Given the description of an element on the screen output the (x, y) to click on. 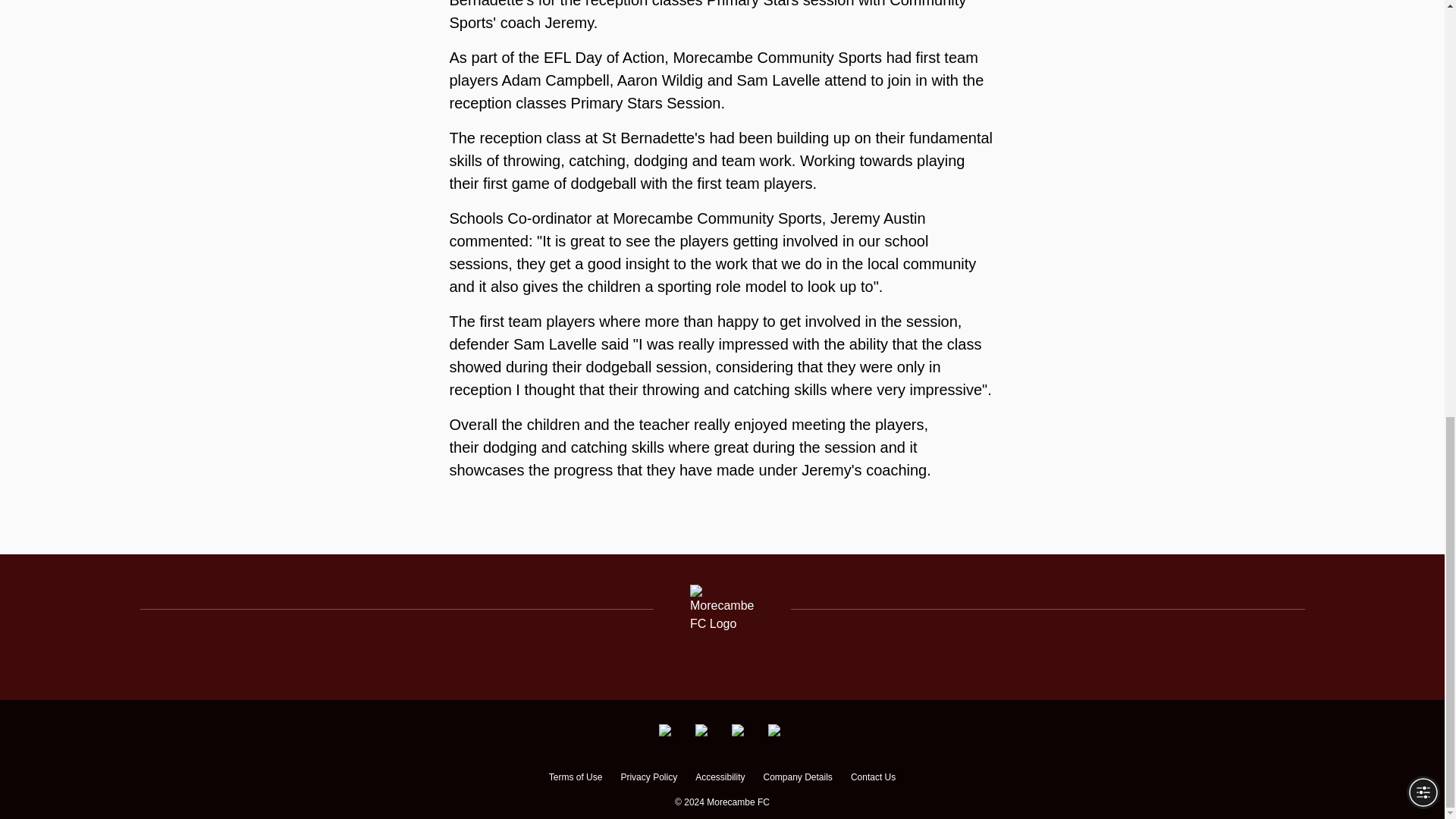
Accessibility (719, 779)
Terms of Use (575, 779)
morecambefootballclub (667, 729)
Company Details (796, 779)
Terms of Use (575, 779)
Company Details (796, 779)
Privacy Policy (648, 779)
Privacy Policy (648, 779)
Contact Us (872, 779)
Contact Us (872, 779)
